Given the description of an element on the screen output the (x, y) to click on. 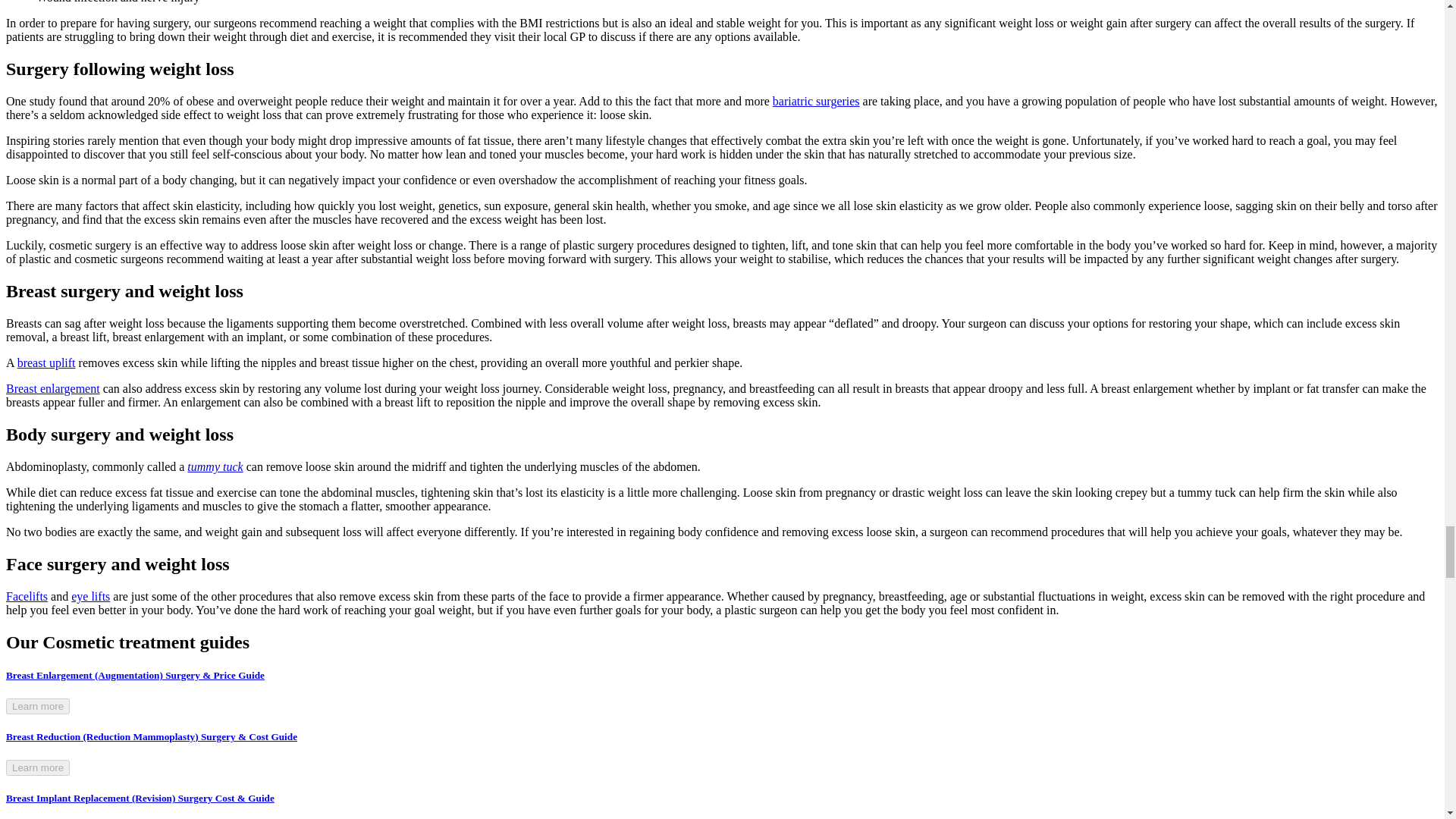
Learn more (37, 767)
Facelifts (26, 595)
eye lifts (90, 595)
breast uplift (46, 362)
Learn more (37, 706)
Breast enlargement (52, 388)
tummy tuck (215, 466)
bariatric surgeries (816, 101)
